Given the description of an element on the screen output the (x, y) to click on. 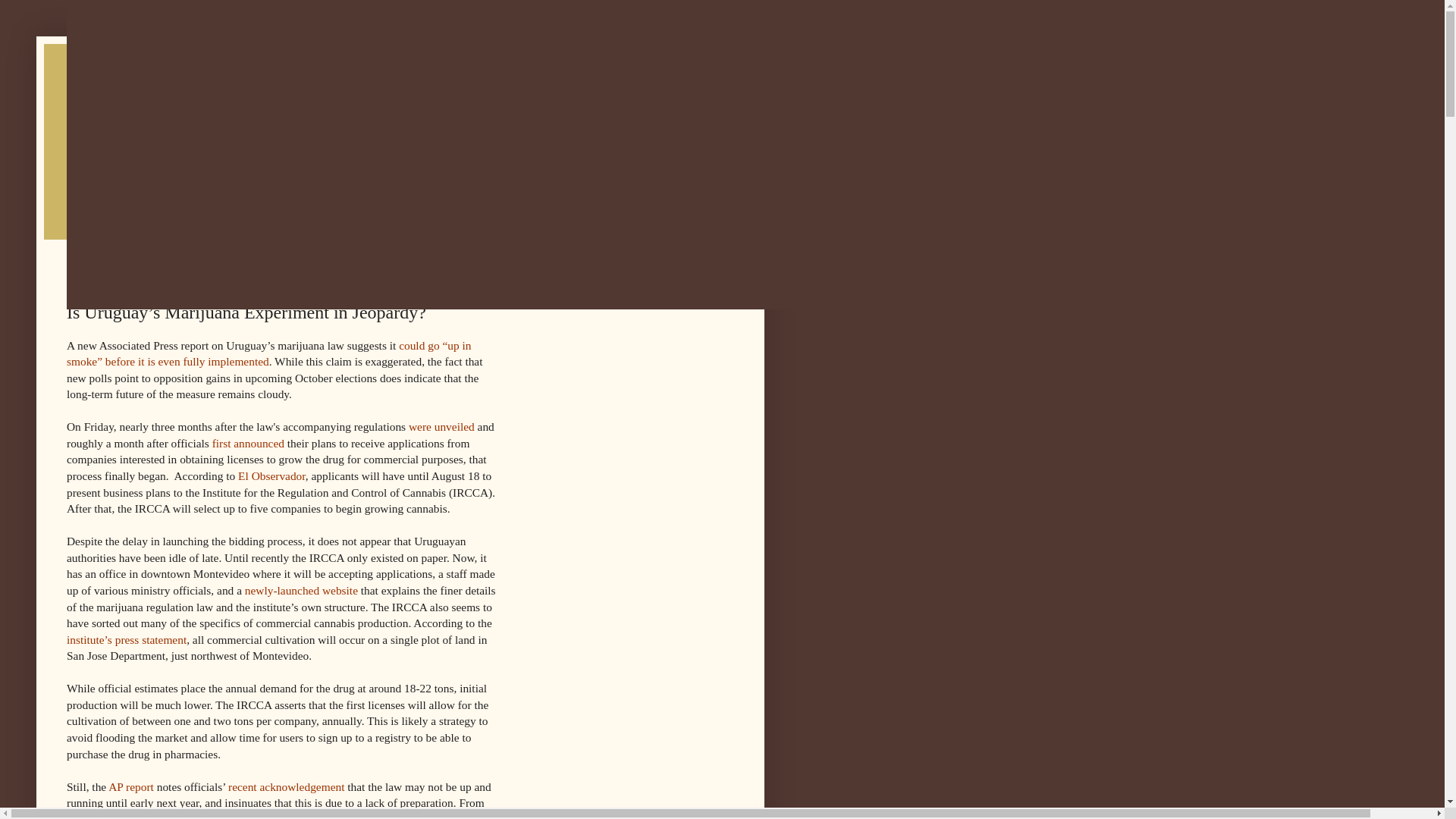
El Observador (271, 475)
recent acknowledgement (285, 786)
newly-launched website (301, 590)
were unveiled (441, 426)
The Pan-American Post (399, 125)
first announced (247, 442)
AP report (130, 786)
